Given the description of an element on the screen output the (x, y) to click on. 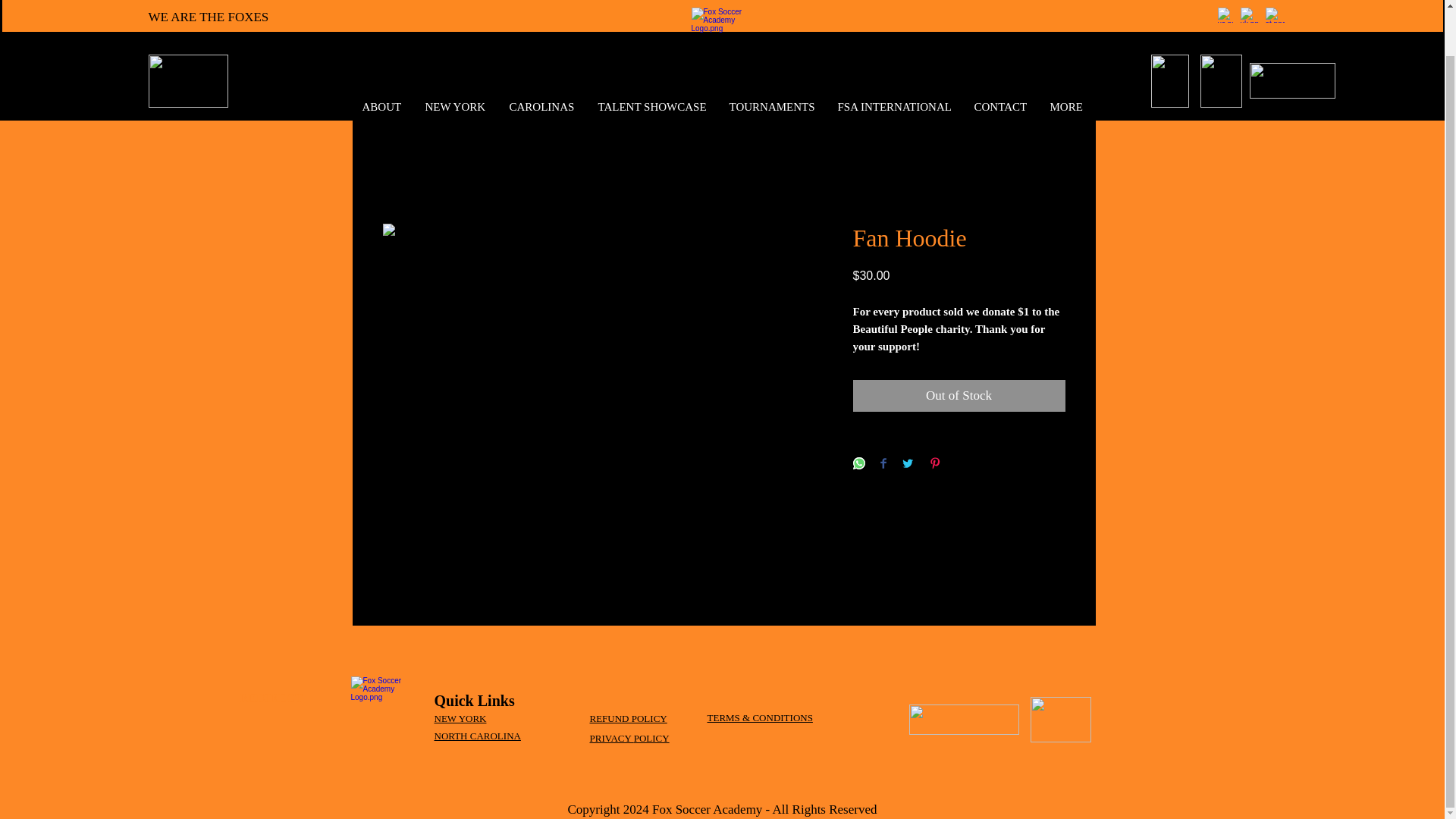
TALENT SHOWCASE (651, 58)
NEW YORK (455, 58)
CAROLINAS (541, 58)
ABOUT (381, 58)
US Soccer Logo White.png (1170, 31)
adidas-logo-black.png (1059, 719)
US Club Soccer Logo White.png (1292, 31)
USYS Logo White.png (1220, 31)
soccer.com.png (962, 719)
